Given the description of an element on the screen output the (x, y) to click on. 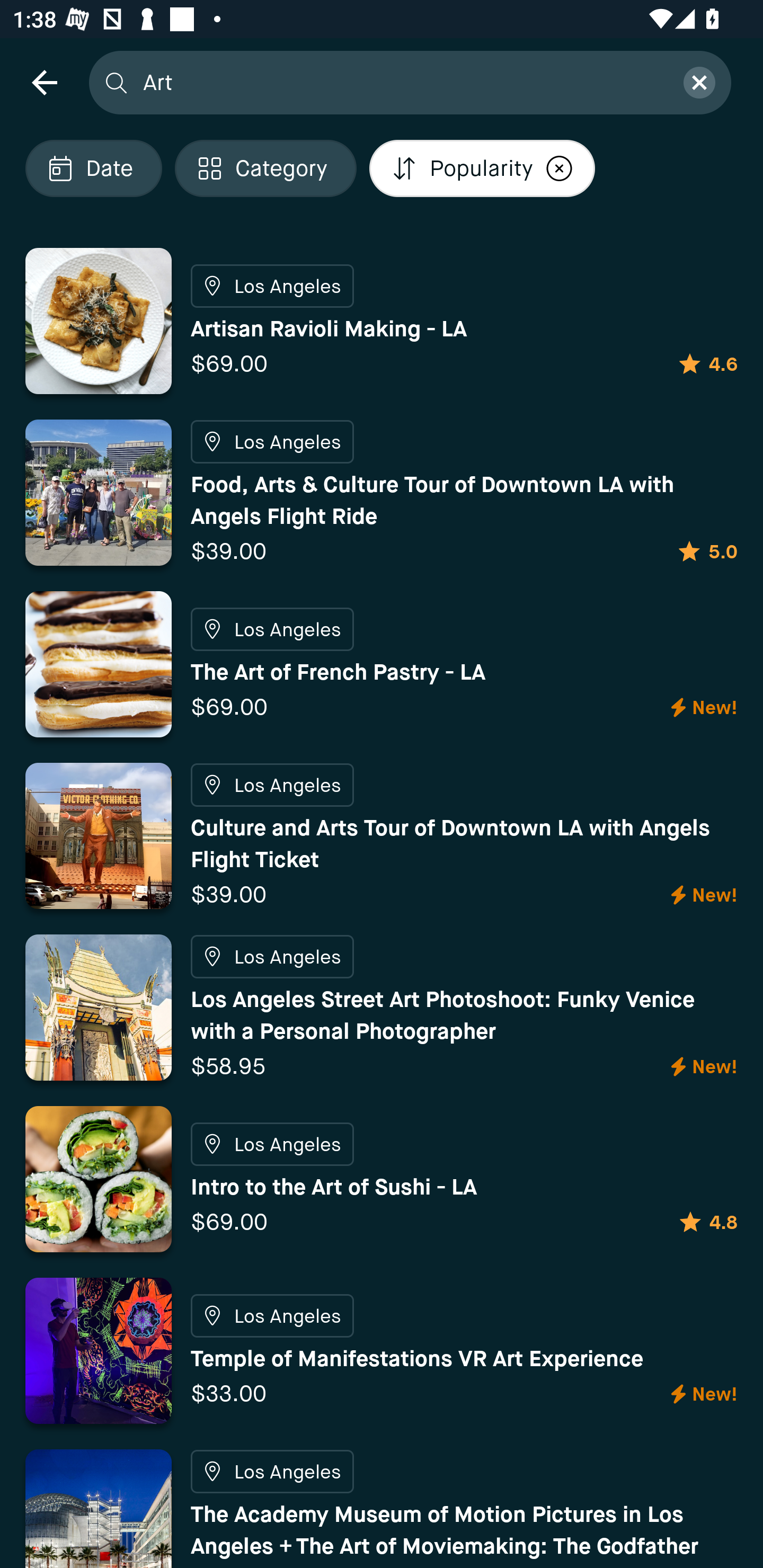
navigation icon (44, 81)
Art (402, 81)
Localized description Date (93, 168)
Localized description Category (265, 168)
Localized description (559, 168)
